Given the description of an element on the screen output the (x, y) to click on. 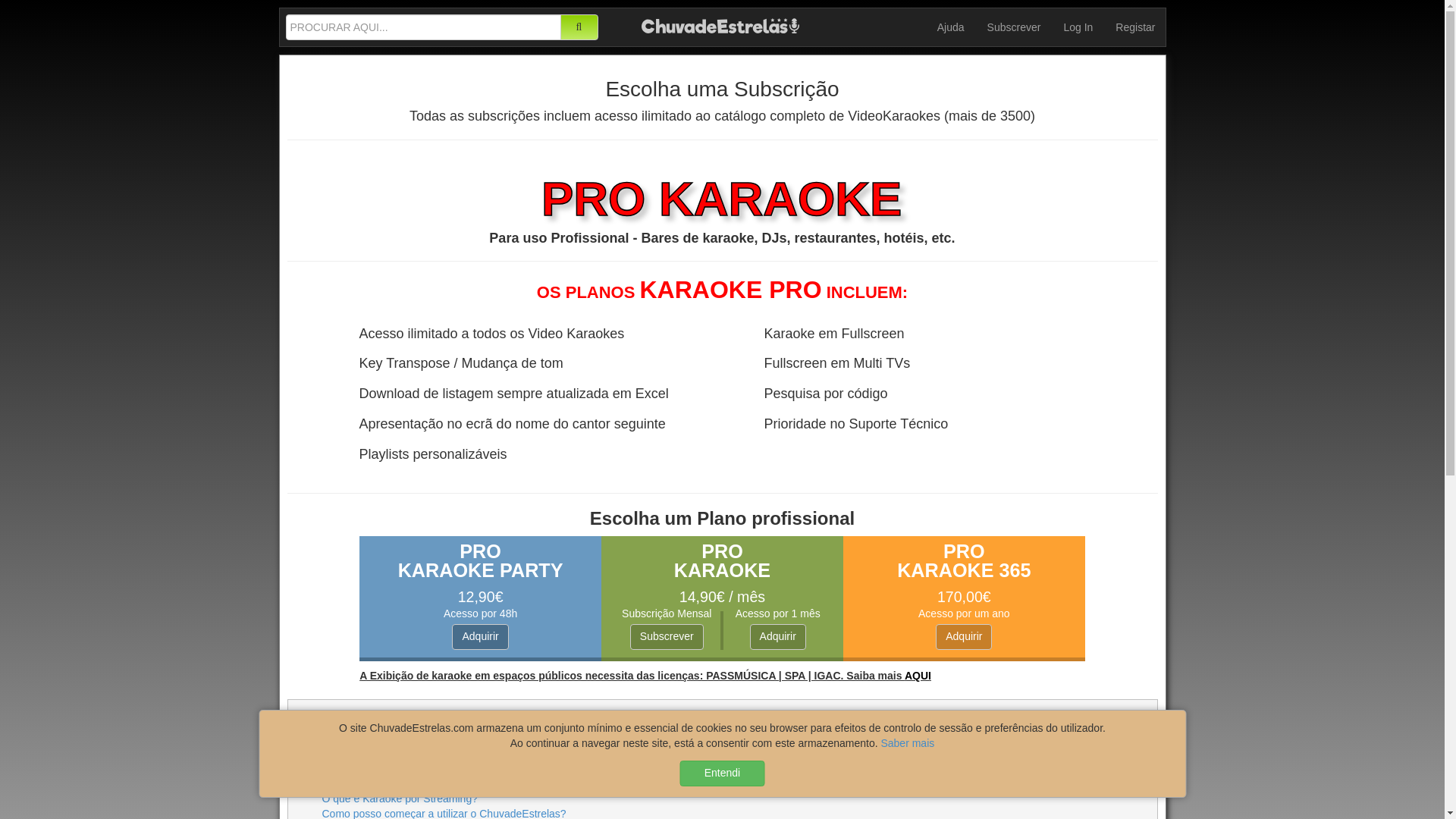
Adquirir (777, 637)
Log In (1077, 26)
Subscrever (666, 637)
AQUI (917, 675)
Adquirir (963, 637)
Adquirir (479, 637)
Home (720, 24)
Registar (1134, 26)
Subscrever (1013, 26)
Ajuda (950, 26)
